Given the description of an element on the screen output the (x, y) to click on. 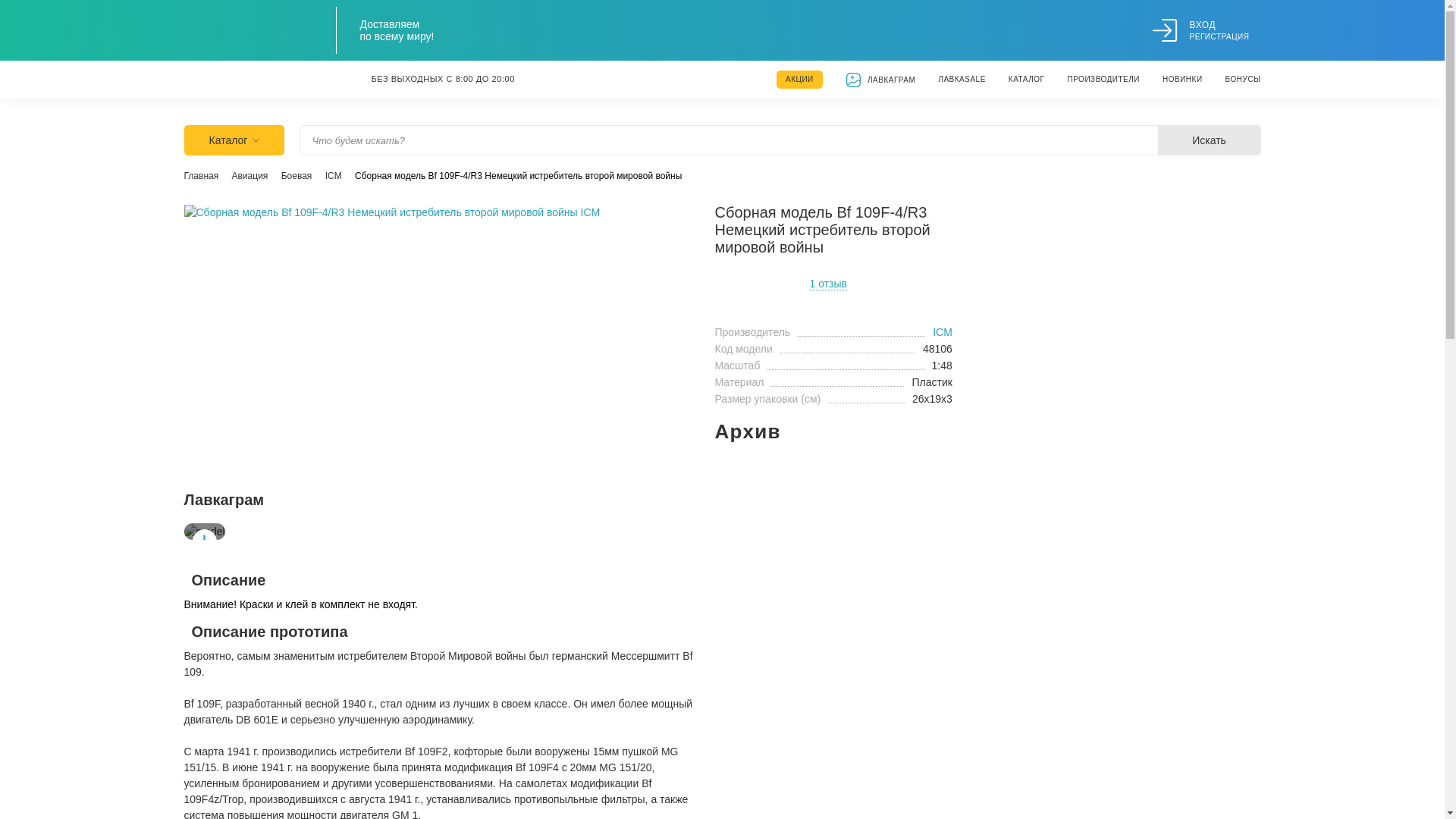
ICM Element type: text (333, 175)
ICM Element type: text (942, 332)
